Given the description of an element on the screen output the (x, y) to click on. 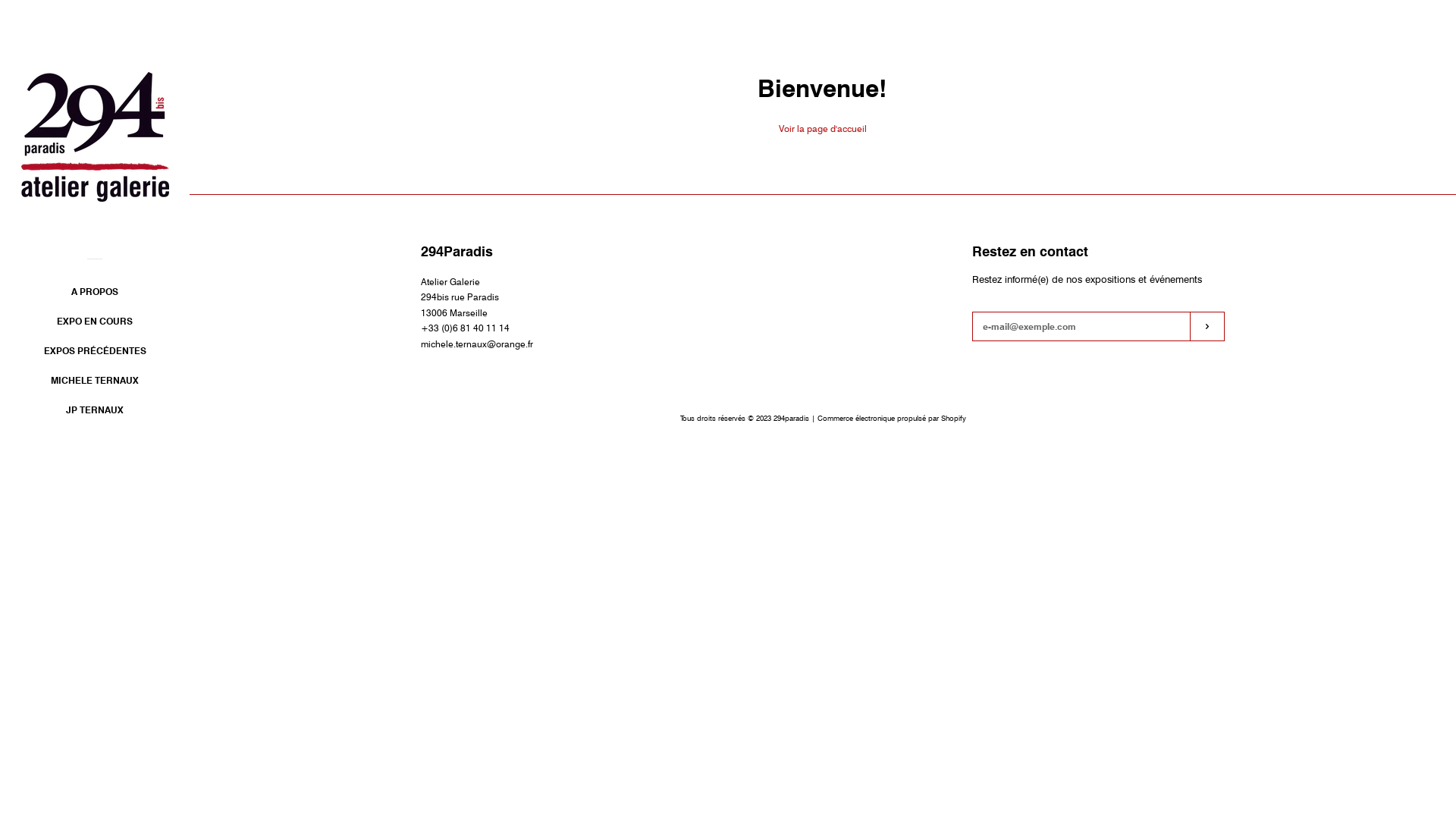
EXPO EN COURS Element type: text (94, 326)
294paradis Element type: text (791, 418)
Voir la page d'accueil Element type: text (822, 128)
S'inscrire Element type: text (1206, 326)
A PROPOS Element type: text (94, 296)
MICHELE TERNAUX Element type: text (94, 385)
JP TERNAUX Element type: text (94, 414)
Fermer Element type: text (1406, 100)
